Given the description of an element on the screen output the (x, y) to click on. 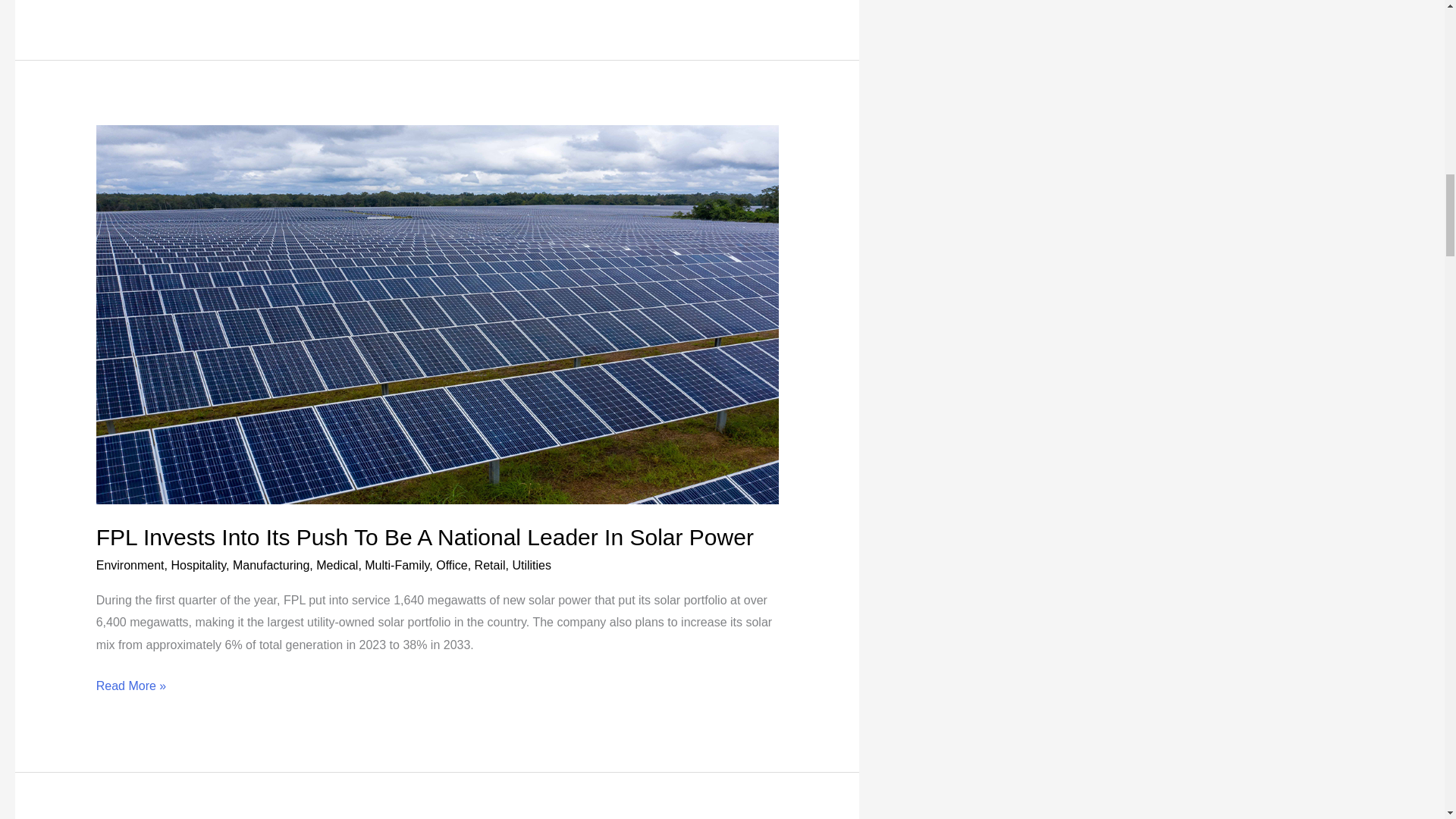
Hospitality (197, 564)
Environment (130, 564)
Medical (336, 564)
Manufacturing (270, 564)
